Given the description of an element on the screen output the (x, y) to click on. 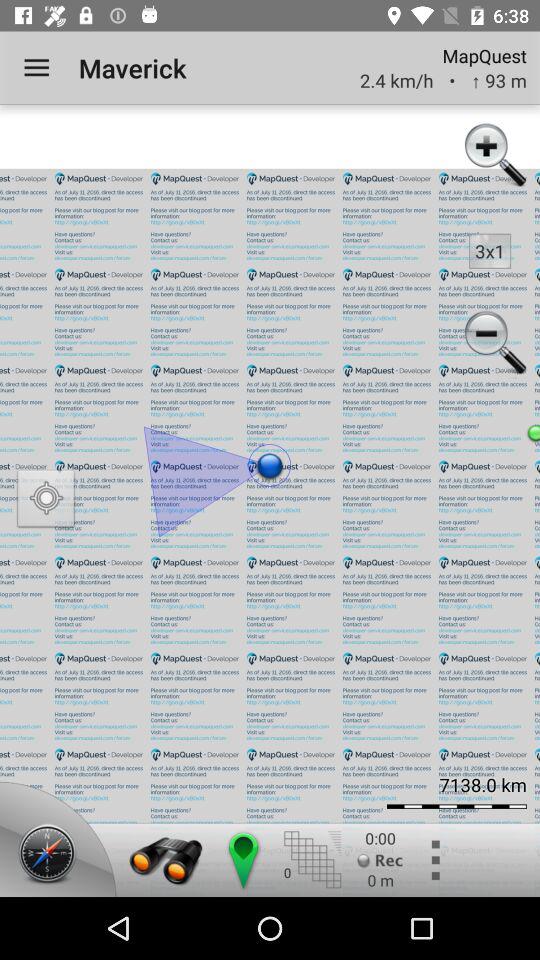
select compass (51, 855)
